Given the description of an element on the screen output the (x, y) to click on. 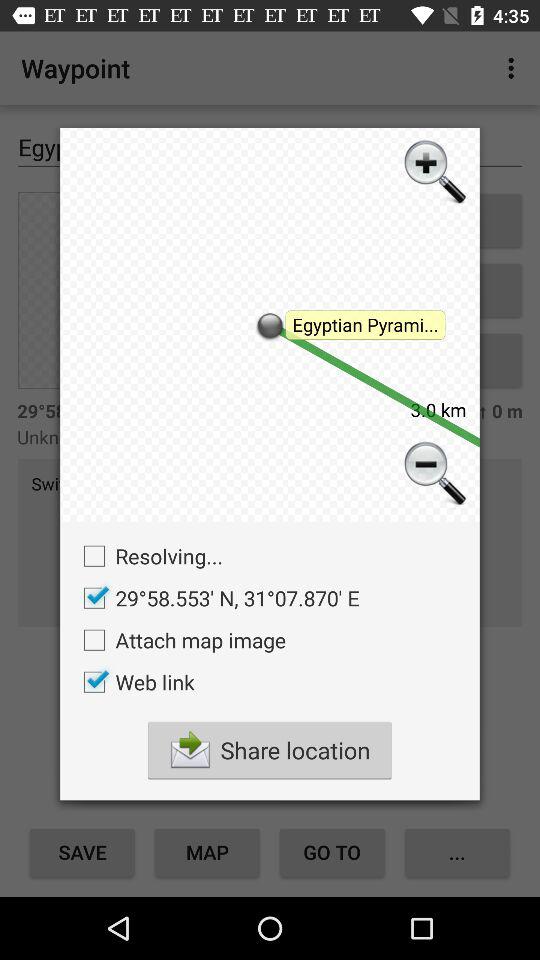
tap icon below attach map image (133, 682)
